Given the description of an element on the screen output the (x, y) to click on. 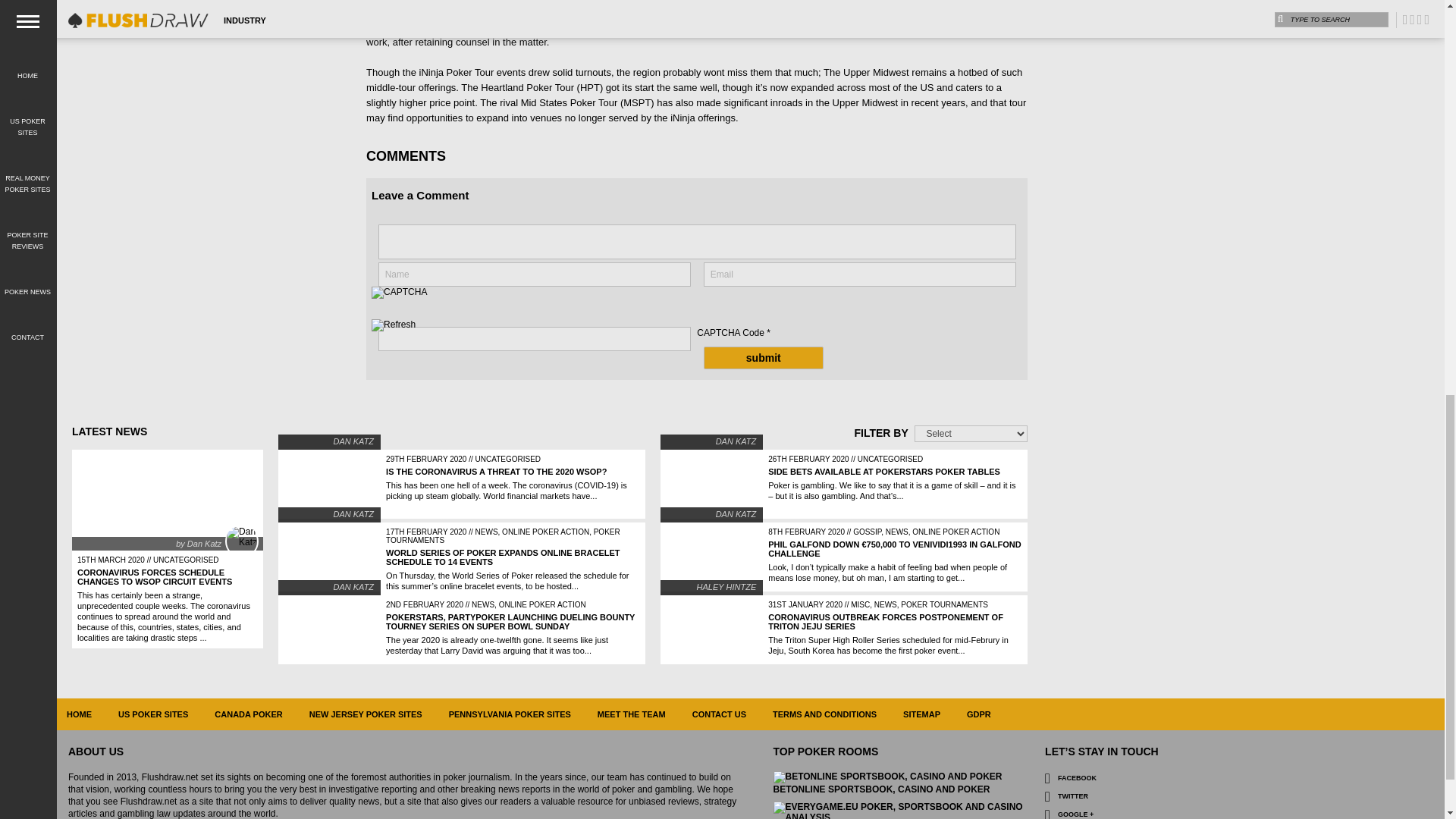
Submit (763, 357)
Refresh (392, 326)
Is the Coronavirus a Threat to the 2020 WSOP? (496, 470)
CAPTCHA (421, 302)
Coronavirus Forces Schedule Changes to WSOP Circuit Events (154, 577)
Coronavirus Forces Schedule Changes to WSOP Circuit Events (167, 499)
Side Bets Available at PokerStars Poker Tables (884, 470)
